Given the description of an element on the screen output the (x, y) to click on. 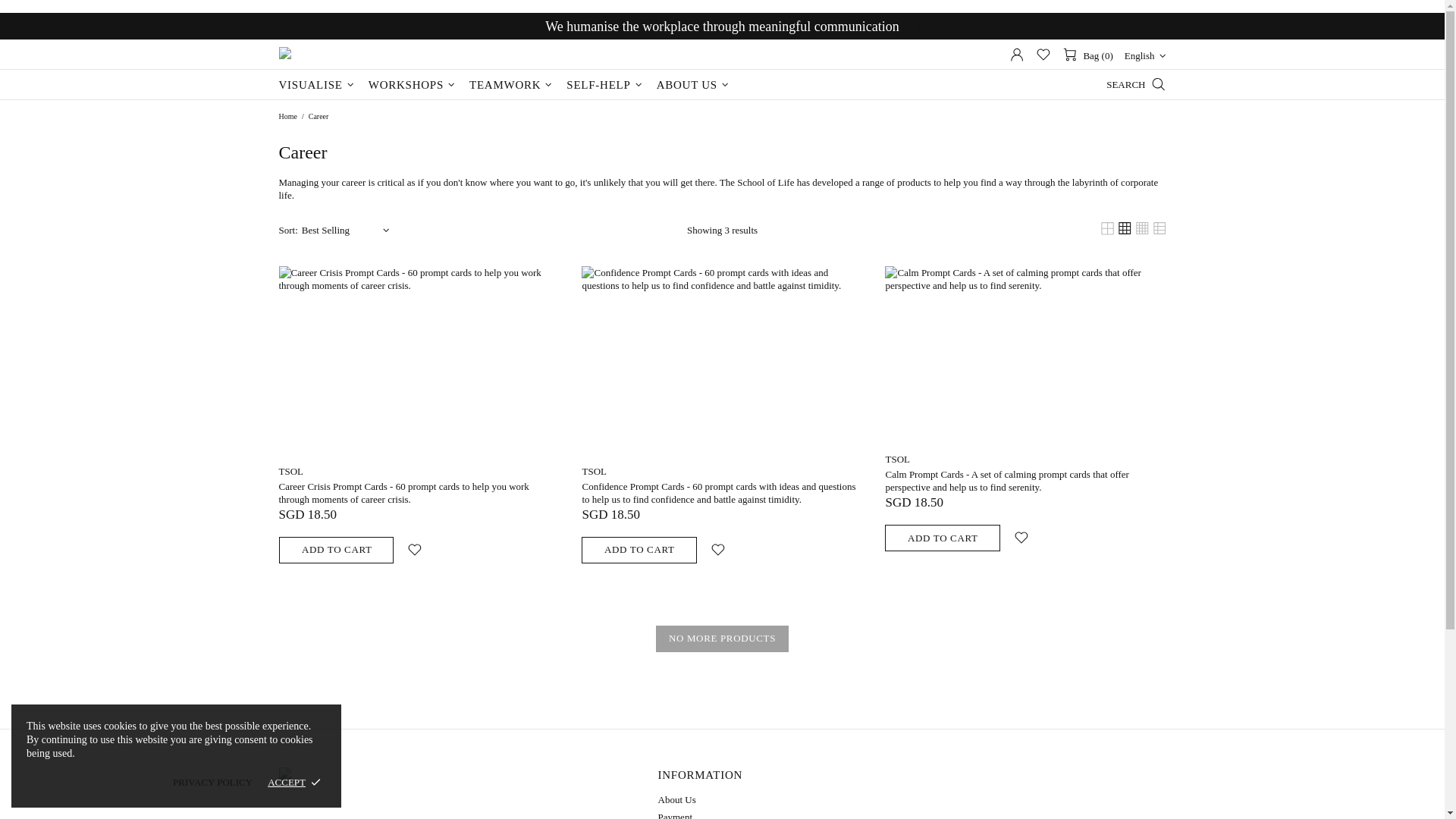
WORKSHOPS (413, 84)
All Lined Up (354, 54)
VISUALISE (317, 84)
TEAMWORK (512, 84)
